Given the description of an element on the screen output the (x, y) to click on. 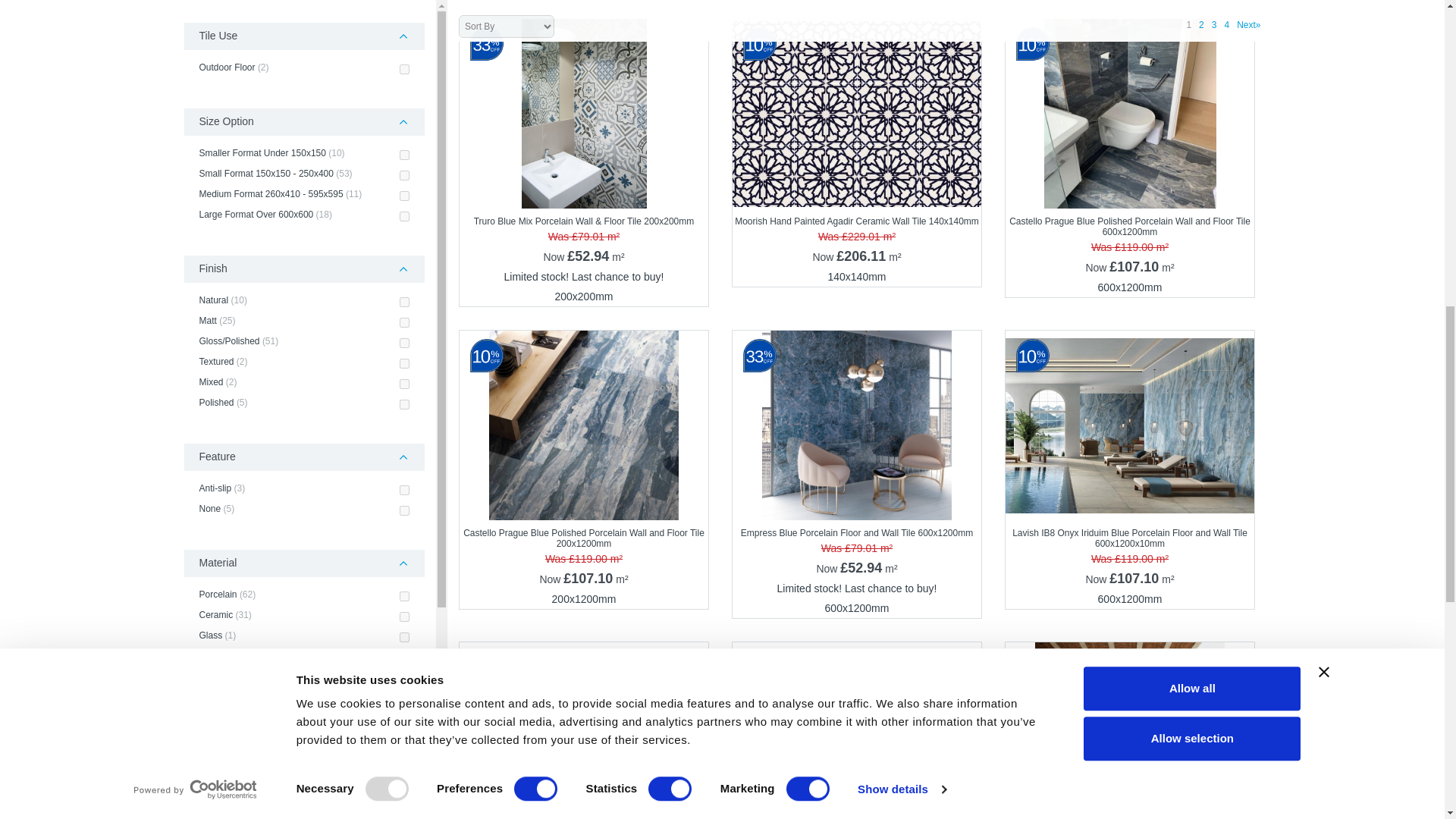
Use::Floor (403, 103)
Use::Wall (403, 82)
Use::Floor --and-- Wall (403, 123)
